Given the description of an element on the screen output the (x, y) to click on. 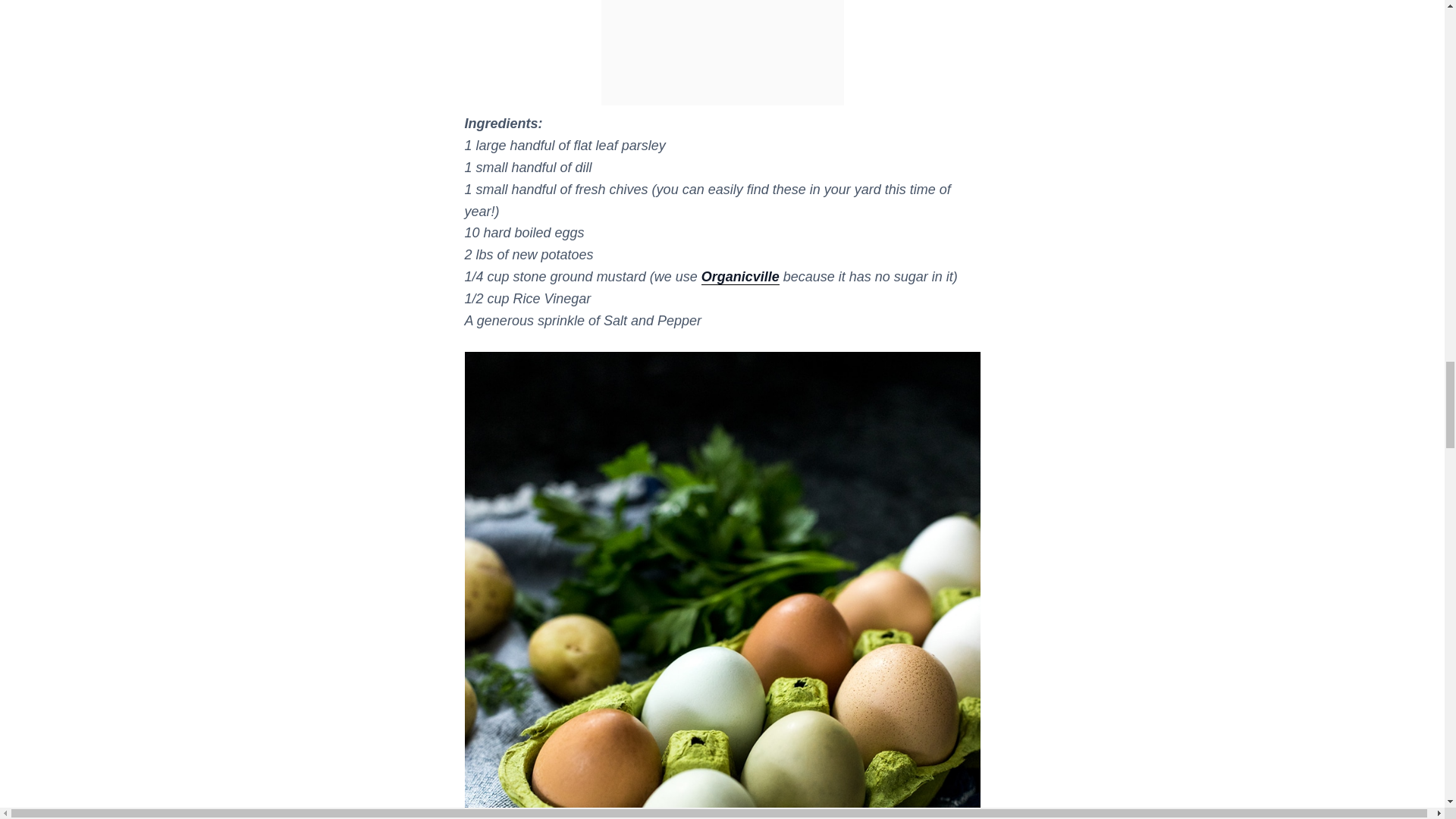
Organicville (739, 277)
